Given the description of an element on the screen output the (x, y) to click on. 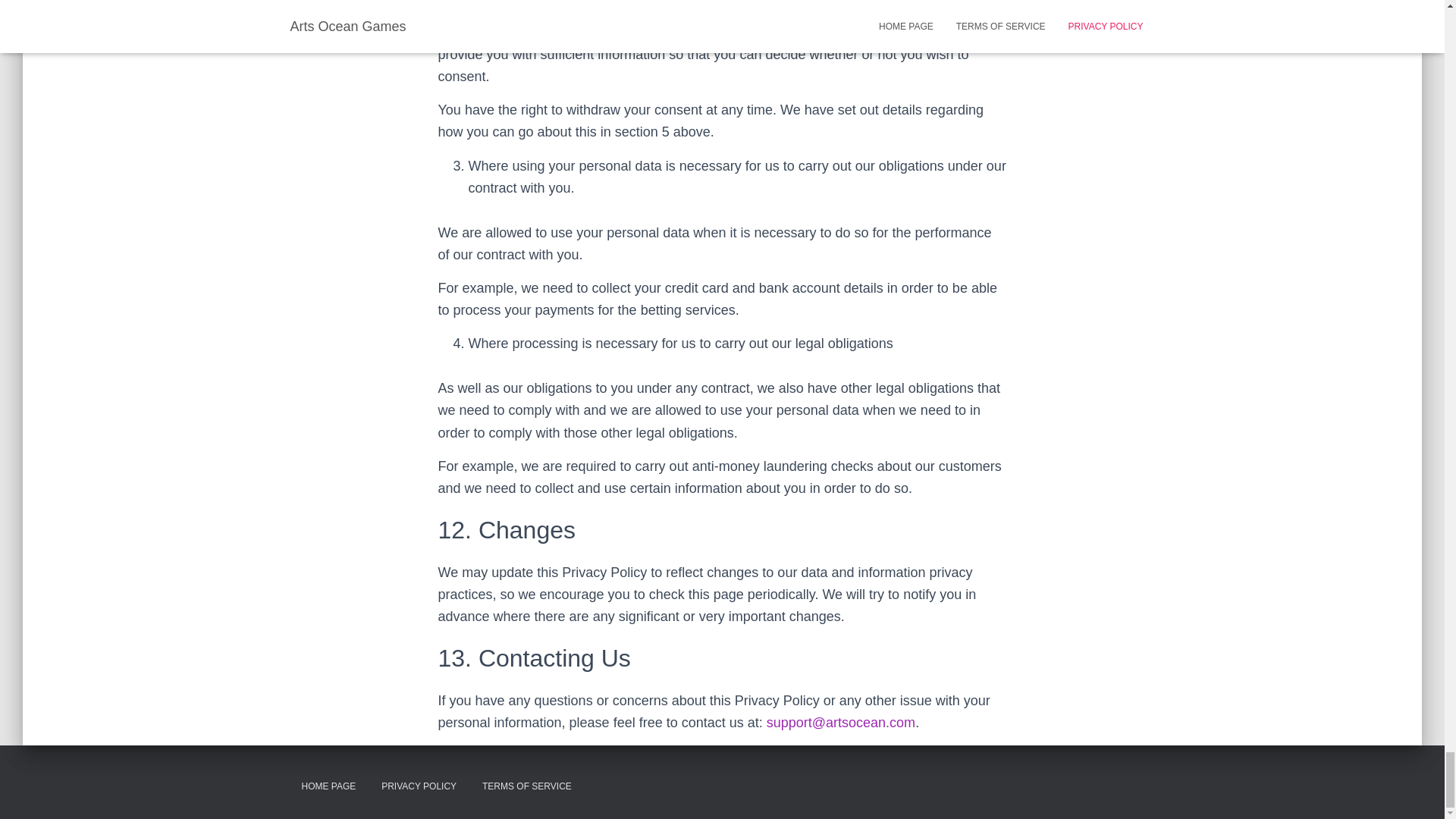
PRIVACY POLICY (418, 786)
TERMS OF SERVICE (526, 786)
HOME PAGE (327, 786)
